Given the description of an element on the screen output the (x, y) to click on. 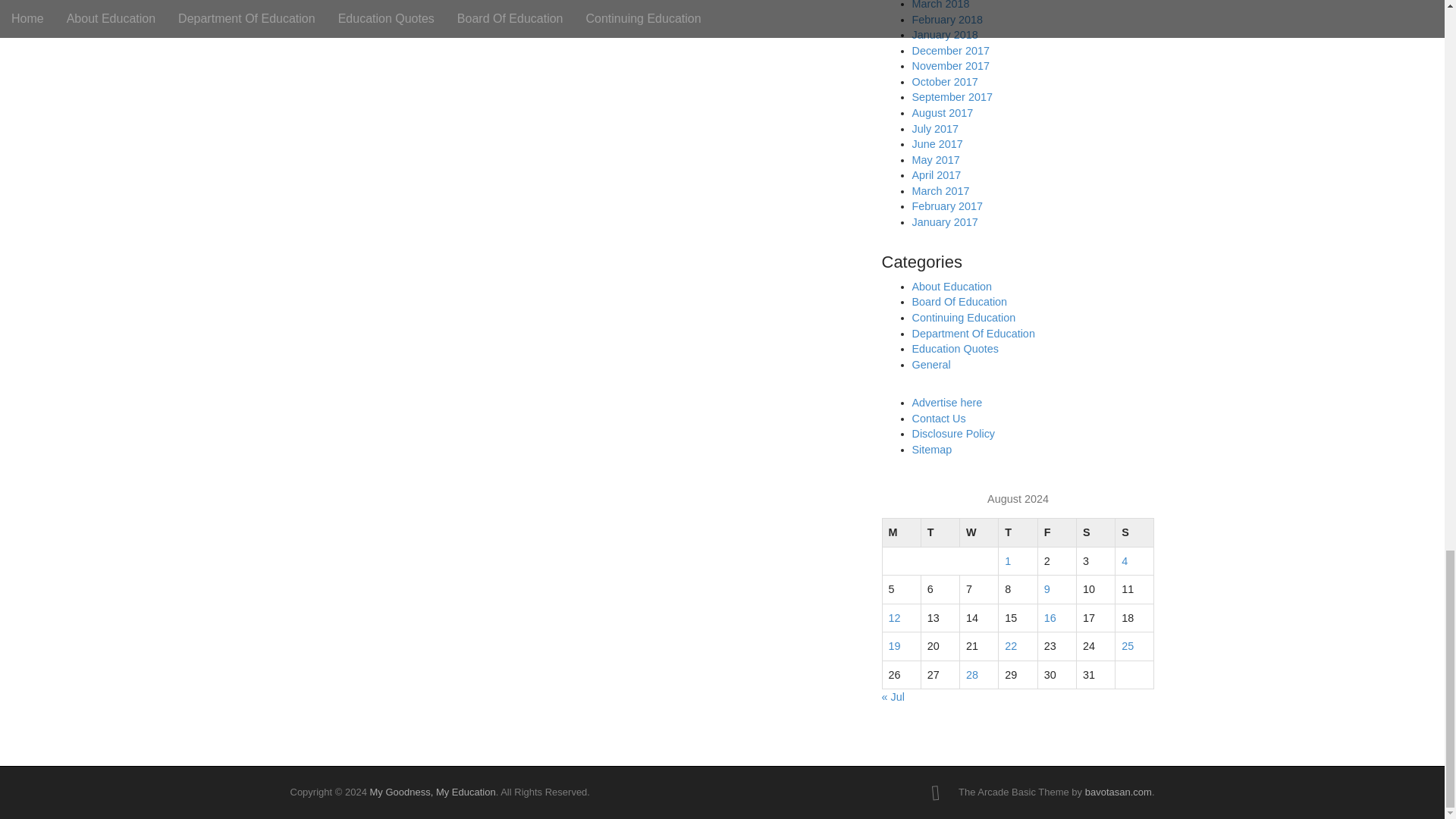
Thursday (1017, 532)
Friday (1055, 532)
Monday (901, 532)
Sunday (1134, 532)
Wednesday (978, 532)
Tuesday (939, 532)
Saturday (1095, 532)
